Given the description of an element on the screen output the (x, y) to click on. 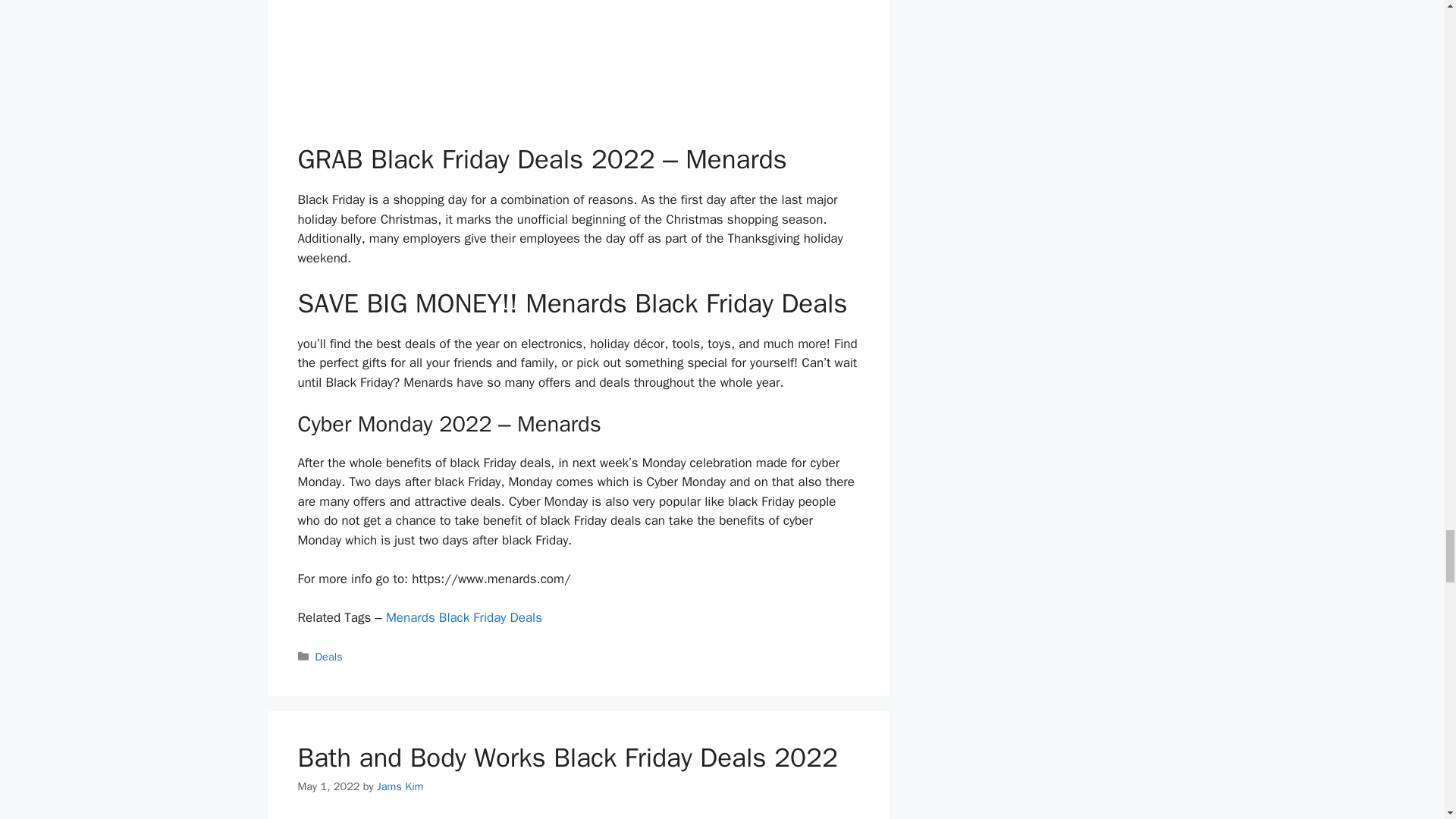
View all posts by Jams Kim (400, 786)
